Given the description of an element on the screen output the (x, y) to click on. 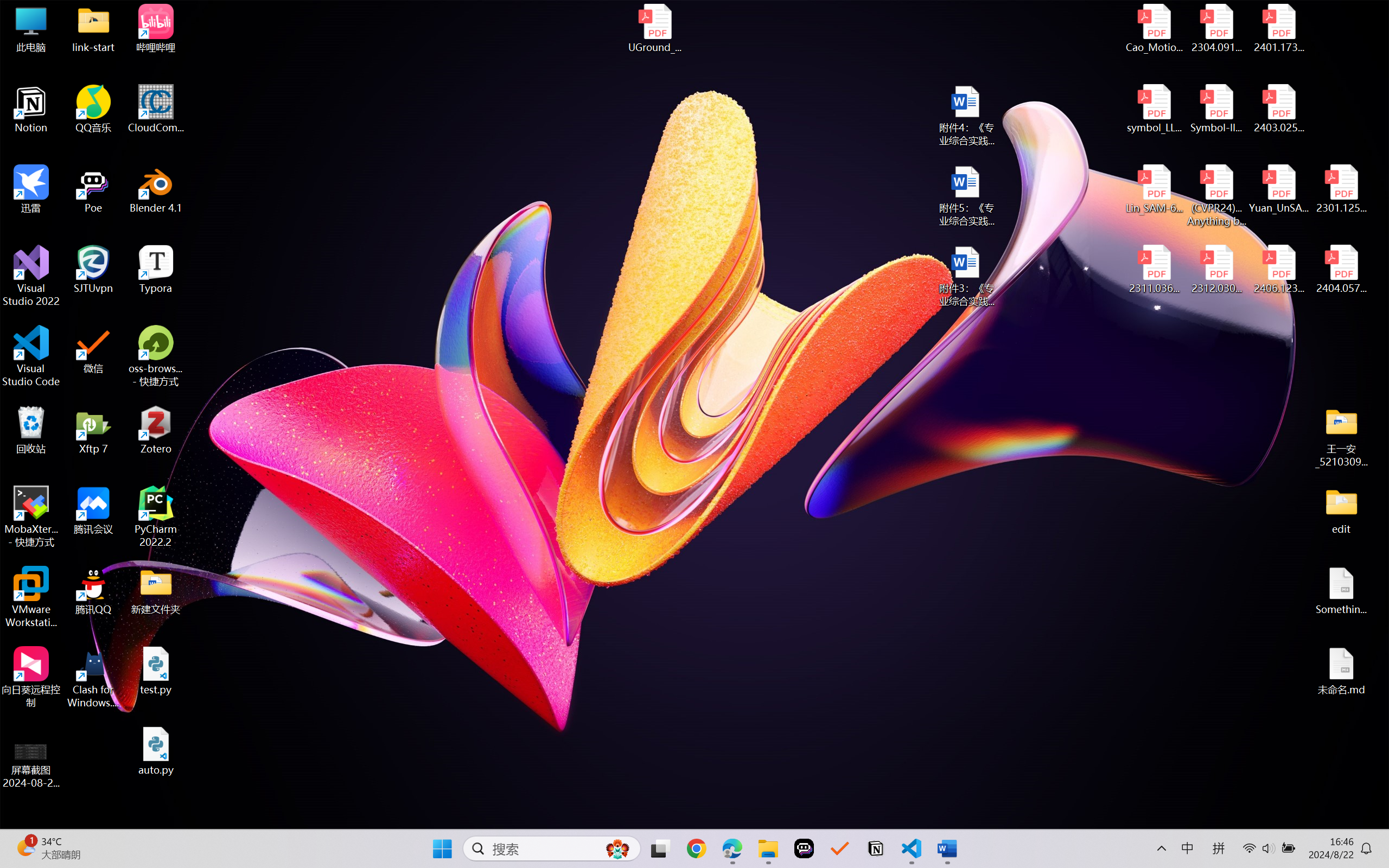
test.py (156, 670)
symbol_LLM.pdf (1154, 109)
2404.05719v1.pdf (1340, 269)
2304.09121v3.pdf (1216, 28)
CloudCompare (156, 109)
